Given the description of an element on the screen output the (x, y) to click on. 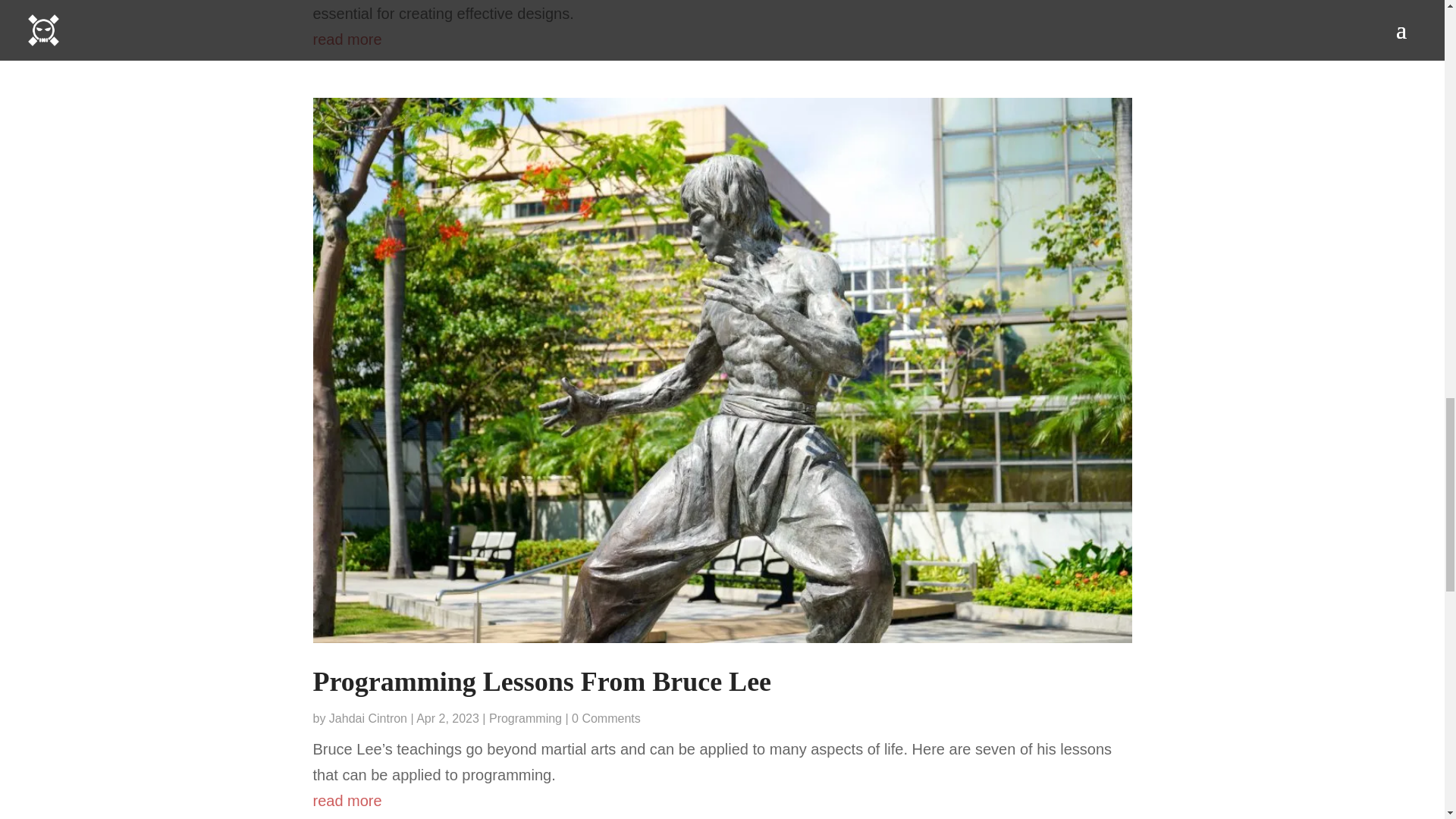
Jahdai Cintron (368, 717)
Programming (525, 717)
read more (722, 39)
read more (722, 800)
Programming Lessons From Bruce Lee (542, 681)
Posts by Jahdai Cintron (368, 717)
